Given the description of an element on the screen output the (x, y) to click on. 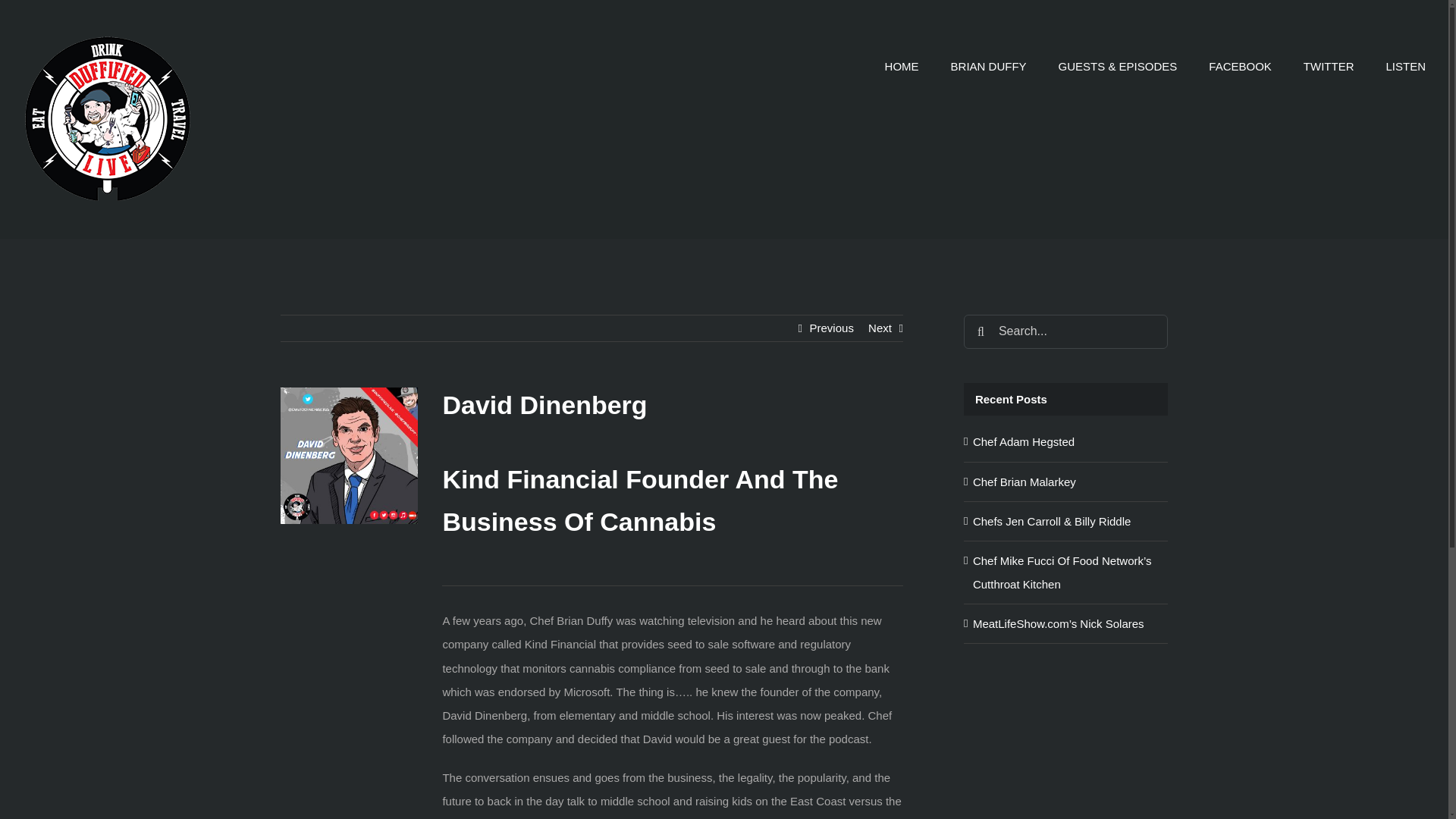
Next (879, 328)
Previous (831, 328)
BRIAN DUFFY (988, 66)
FACEBOOK (1239, 66)
Chef Brian Malarkey (1023, 481)
Chef Adam Hegsted (1023, 440)
